Given the description of an element on the screen output the (x, y) to click on. 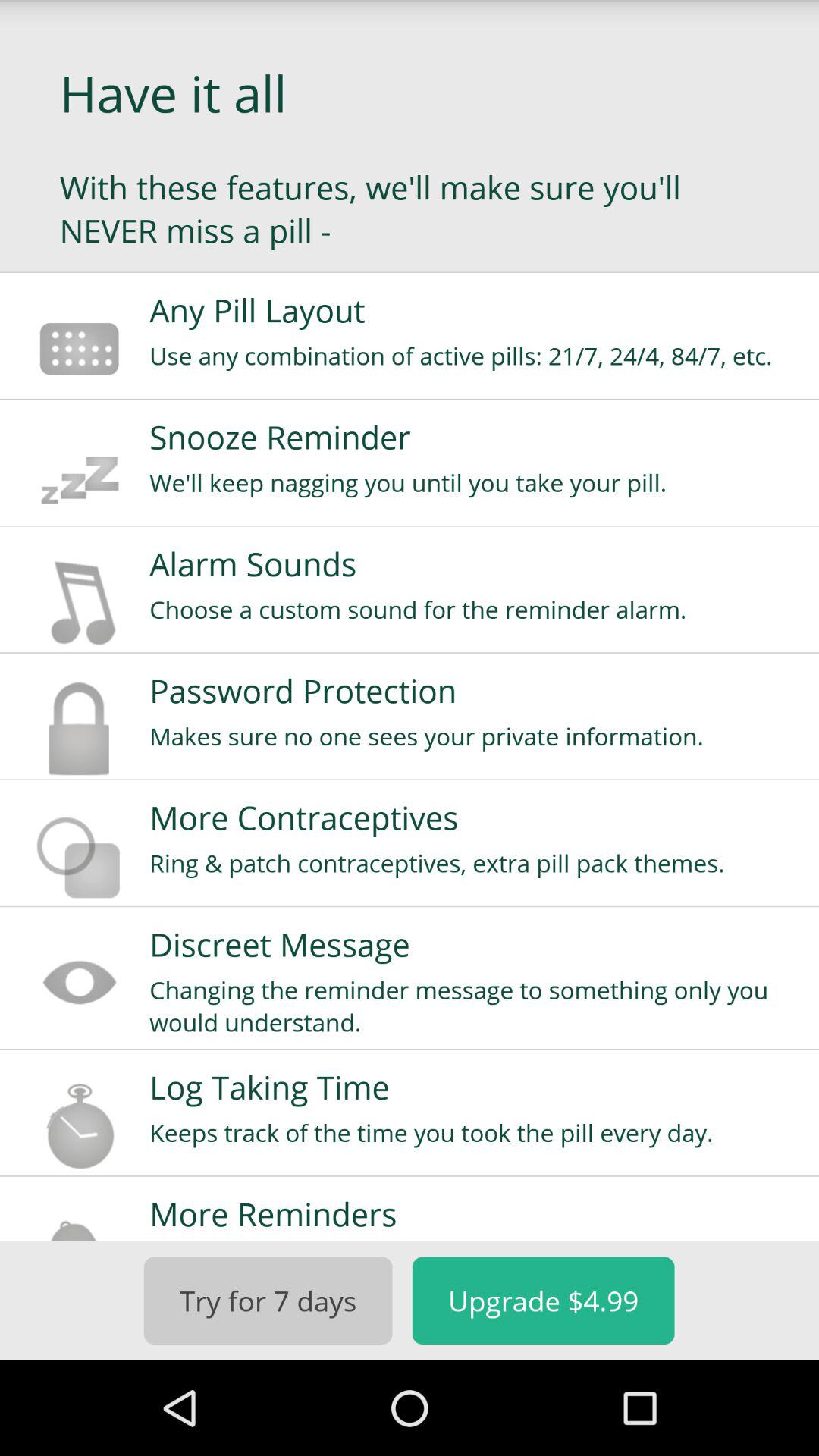
turn on item below the any pill layout app (474, 355)
